Given the description of an element on the screen output the (x, y) to click on. 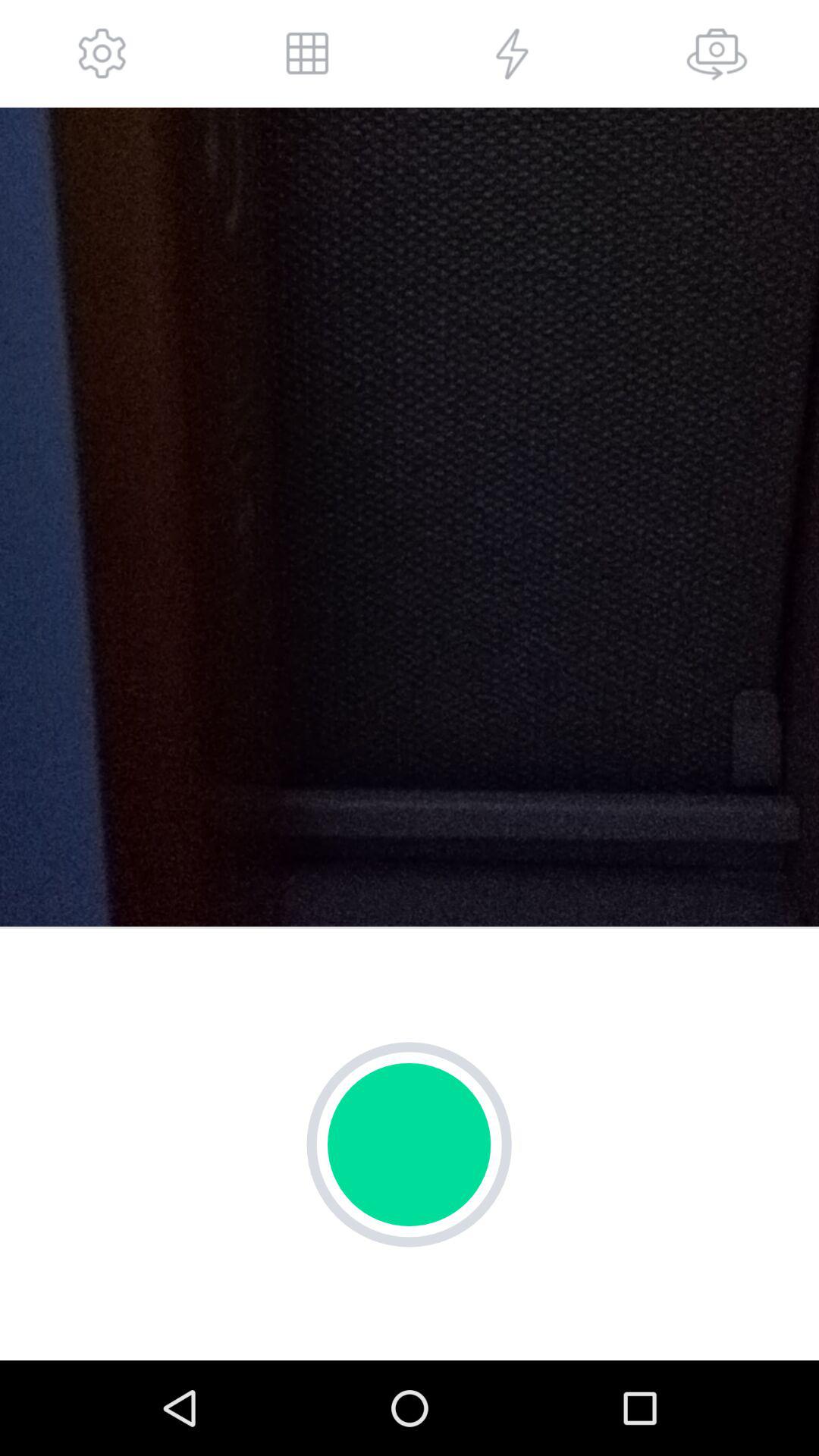
settings (102, 53)
